Given the description of an element on the screen output the (x, y) to click on. 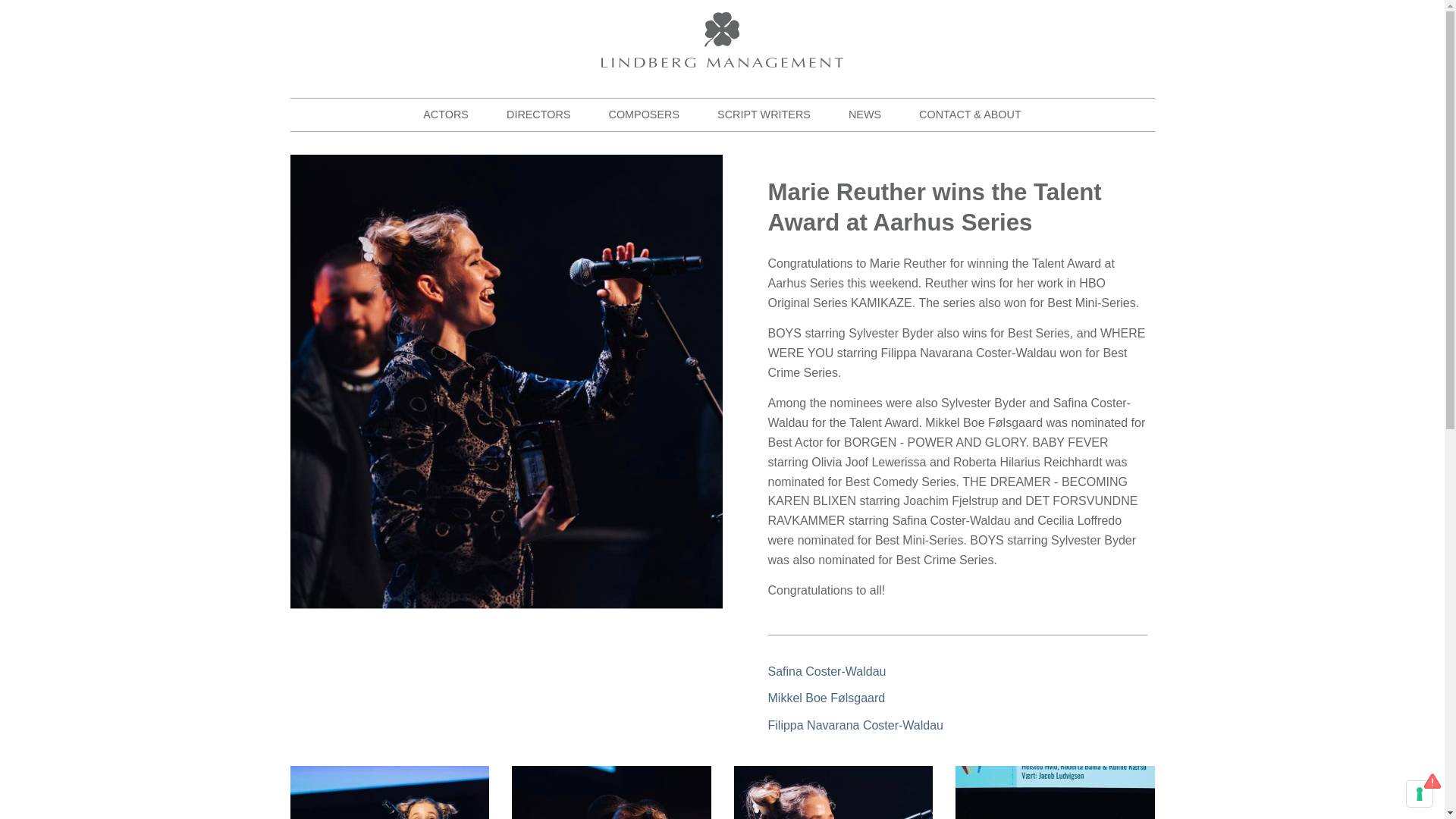
NEWS (864, 114)
DIRECTORS (538, 114)
ACTORS (445, 114)
SCRIPT WRITERS (763, 114)
COMPOSERS (643, 114)
